Given the description of an element on the screen output the (x, y) to click on. 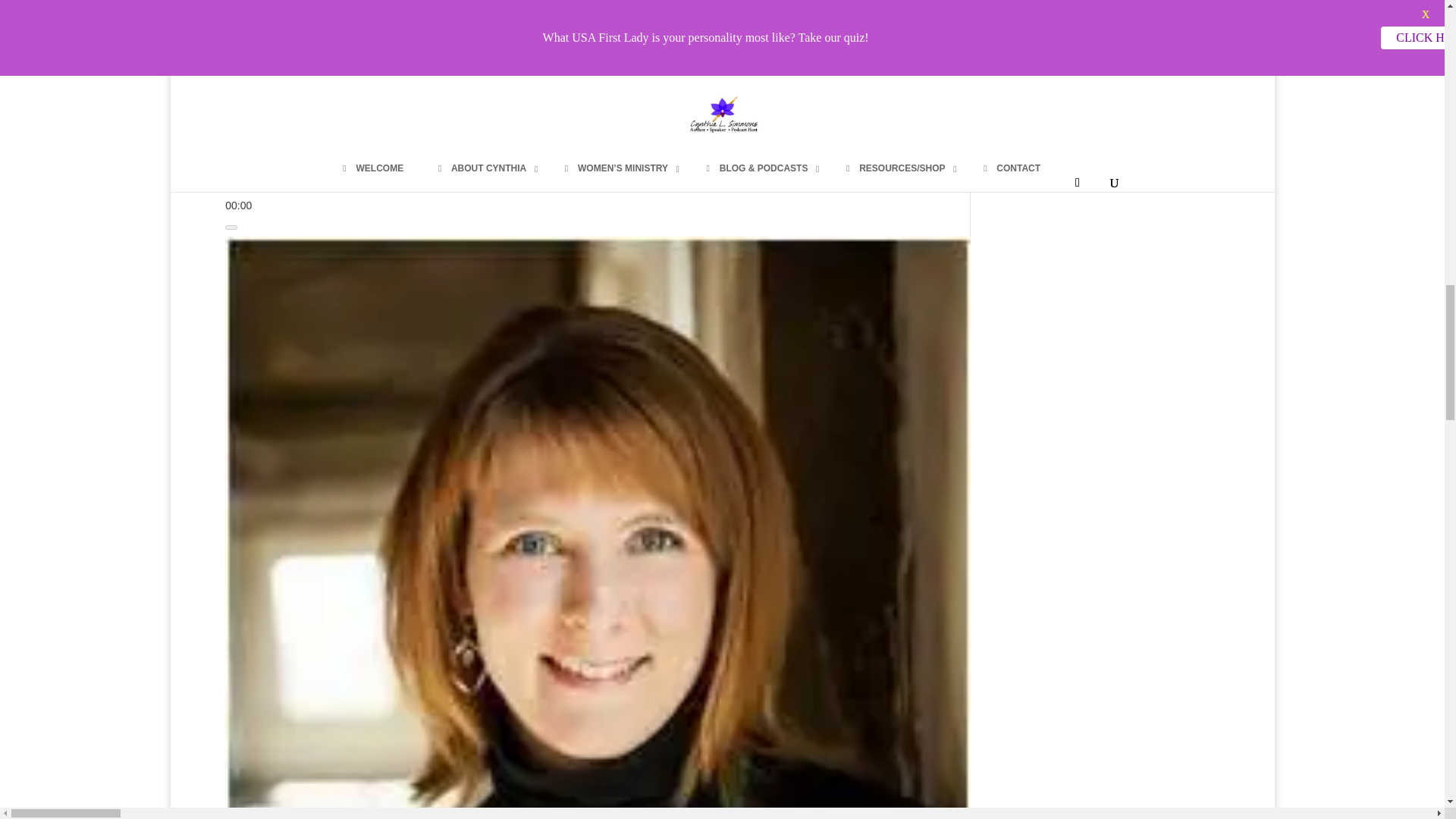
Posts by Cynthia L Simmons (285, 99)
Play (231, 154)
Mute (231, 227)
